Given the description of an element on the screen output the (x, y) to click on. 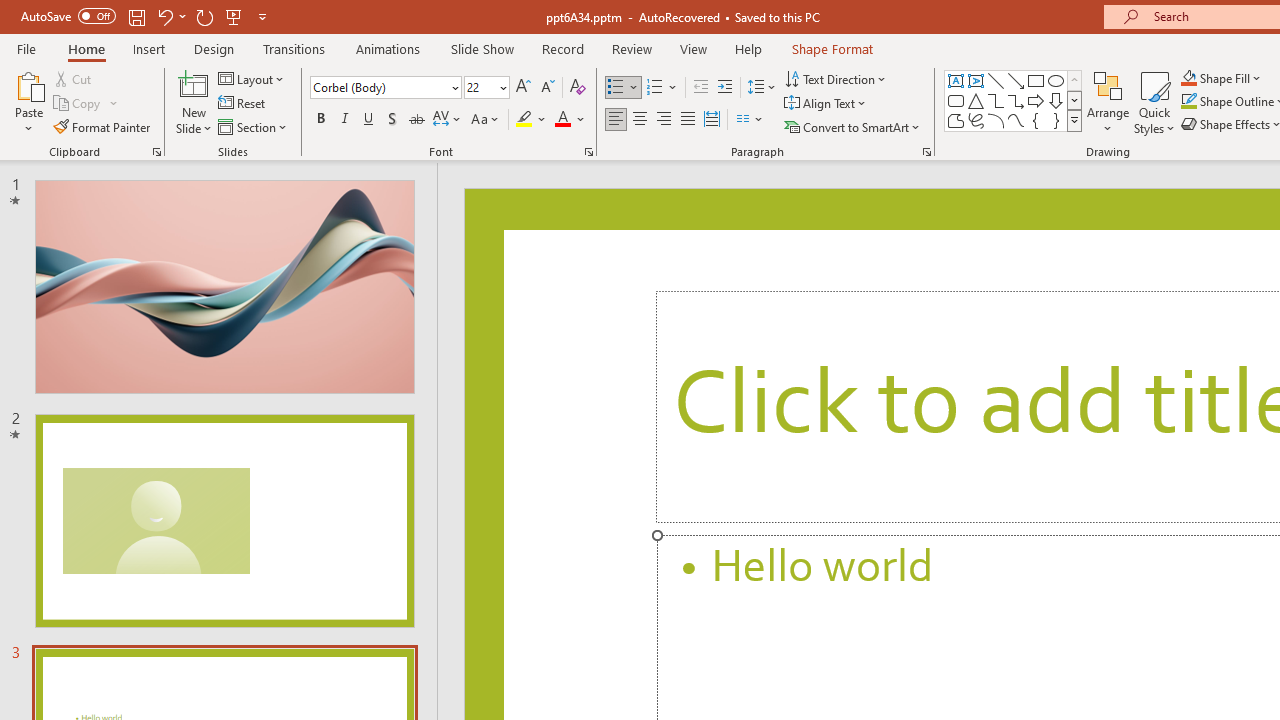
Shape Fill Red, Accent 2 (1188, 78)
